Given the description of an element on the screen output the (x, y) to click on. 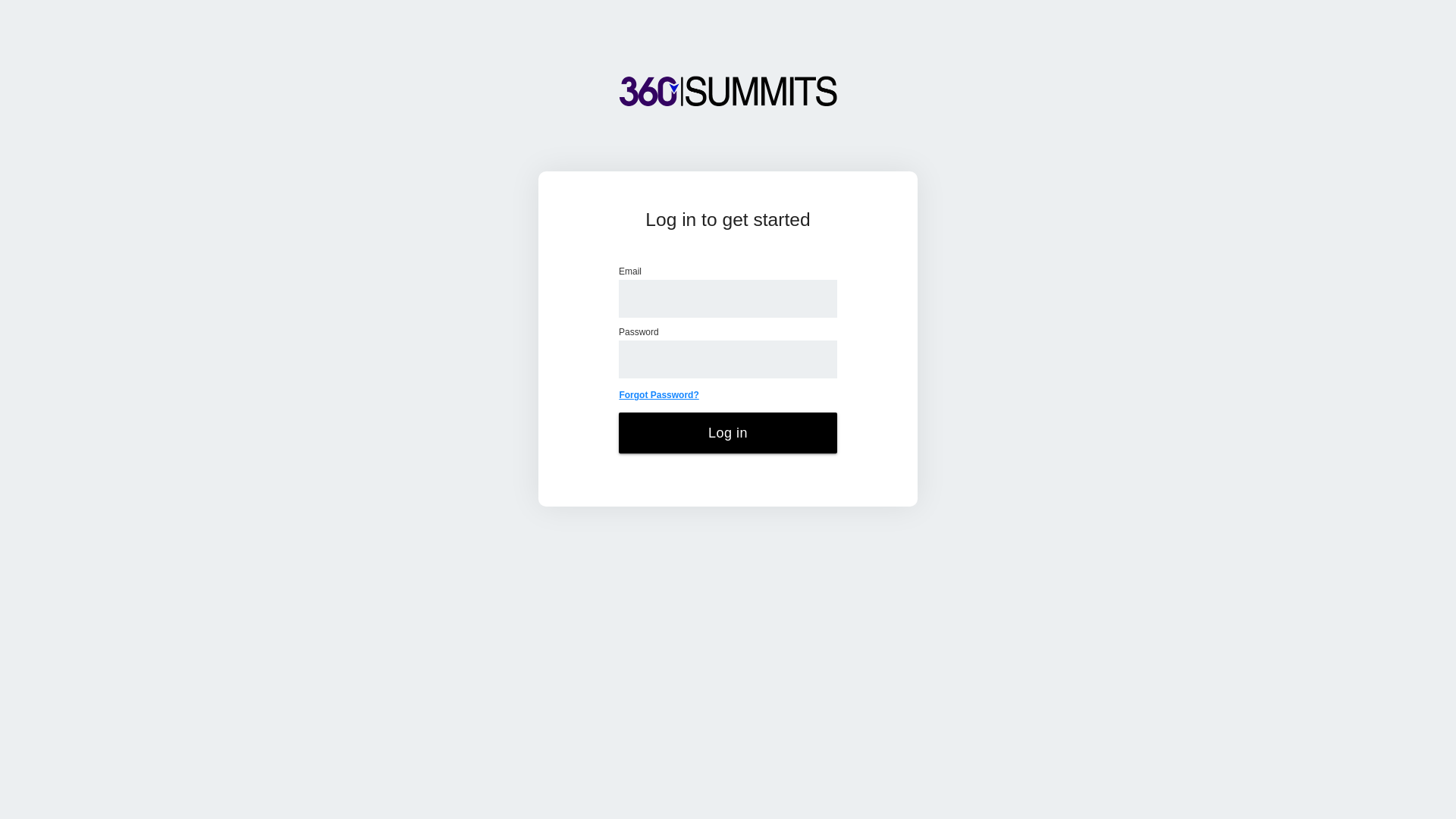
Forgot Password? Element type: text (658, 394)
Log in Element type: text (727, 432)
